Given the description of an element on the screen output the (x, y) to click on. 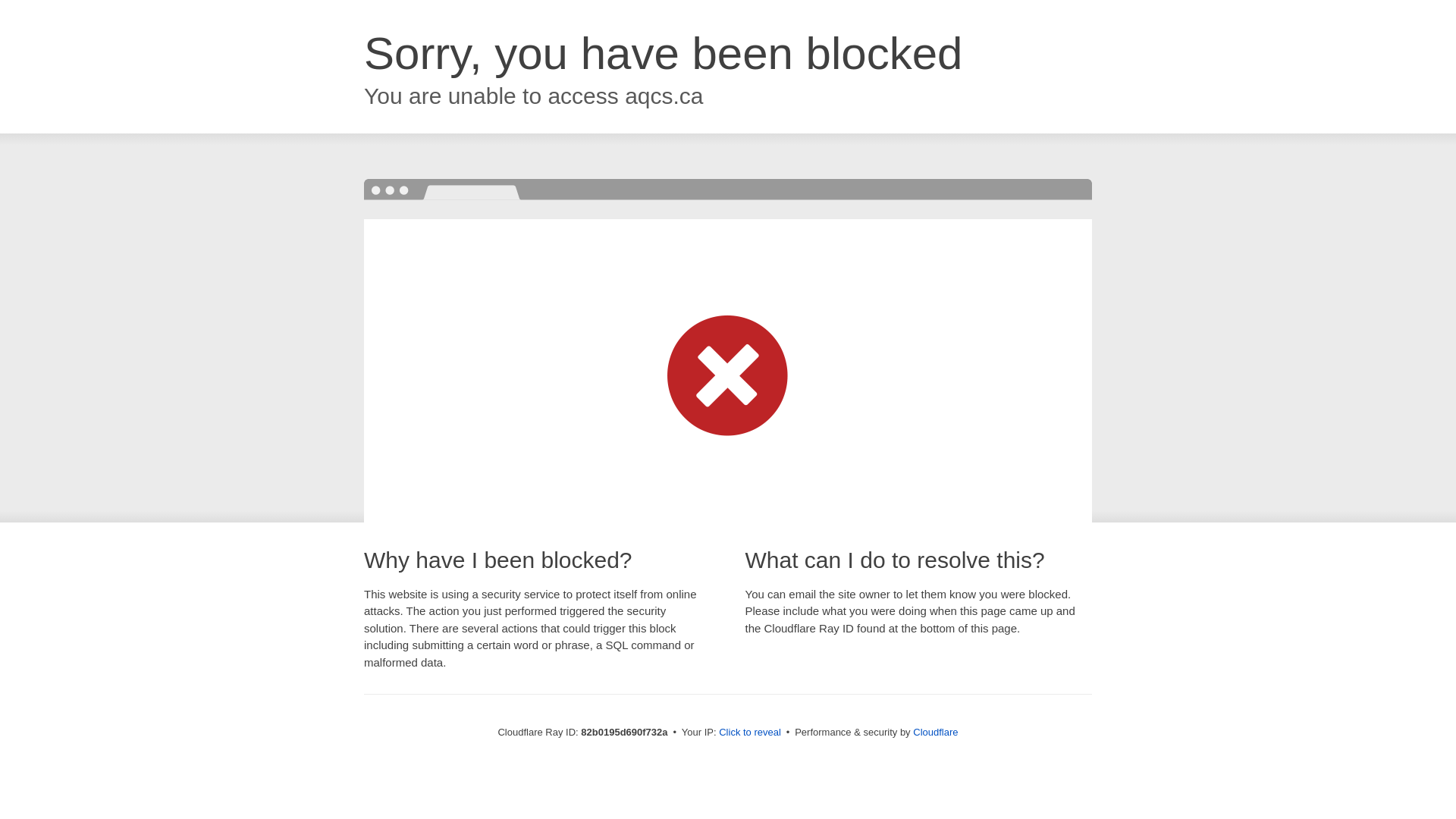
Click to reveal Element type: text (749, 732)
Cloudflare Element type: text (935, 731)
